Given the description of an element on the screen output the (x, y) to click on. 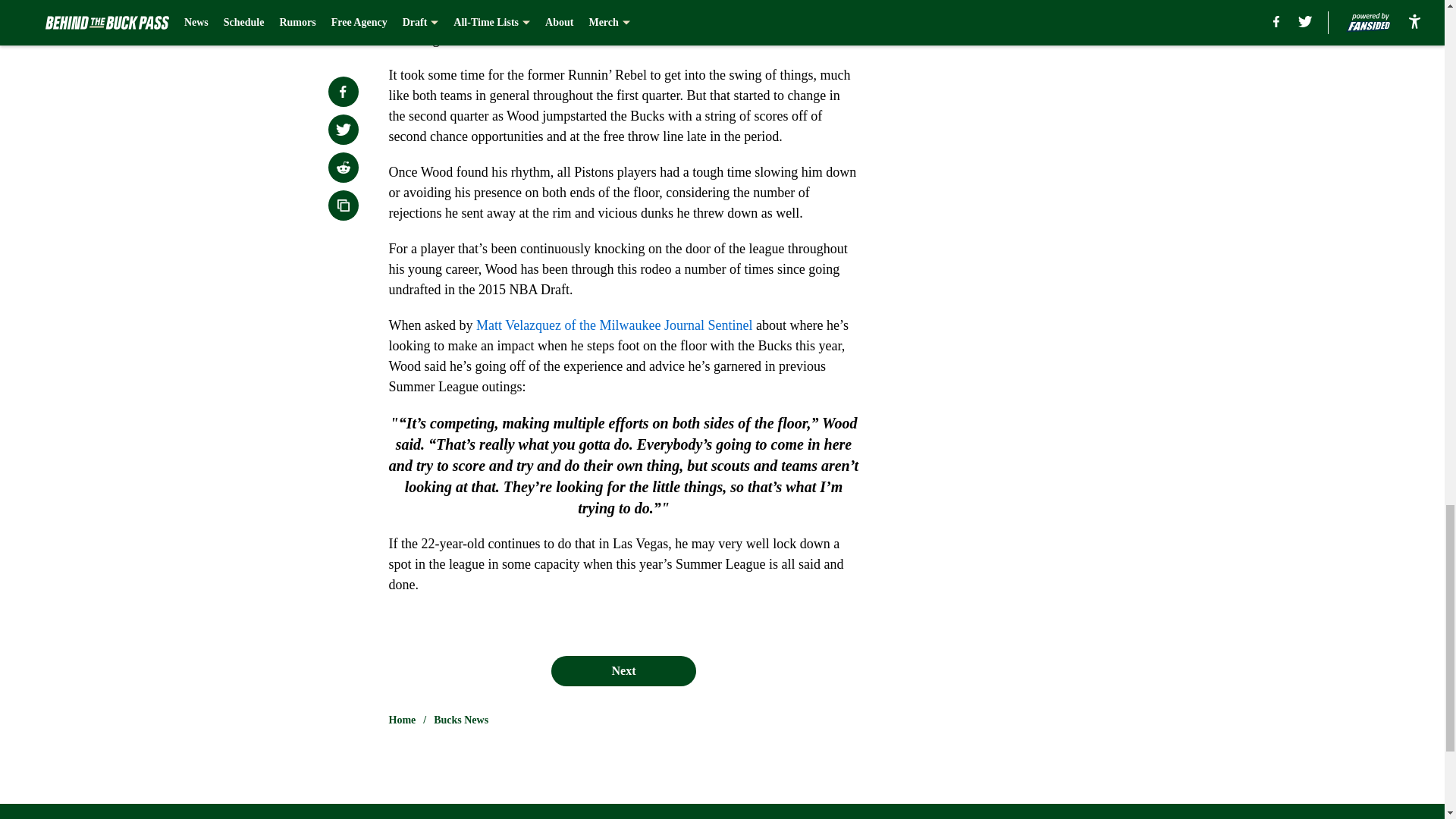
Bucks News (460, 720)
Next (622, 671)
Matt Velazquez of the Milwaukee Journal Sentinel (614, 324)
Home (401, 720)
